Given the description of an element on the screen output the (x, y) to click on. 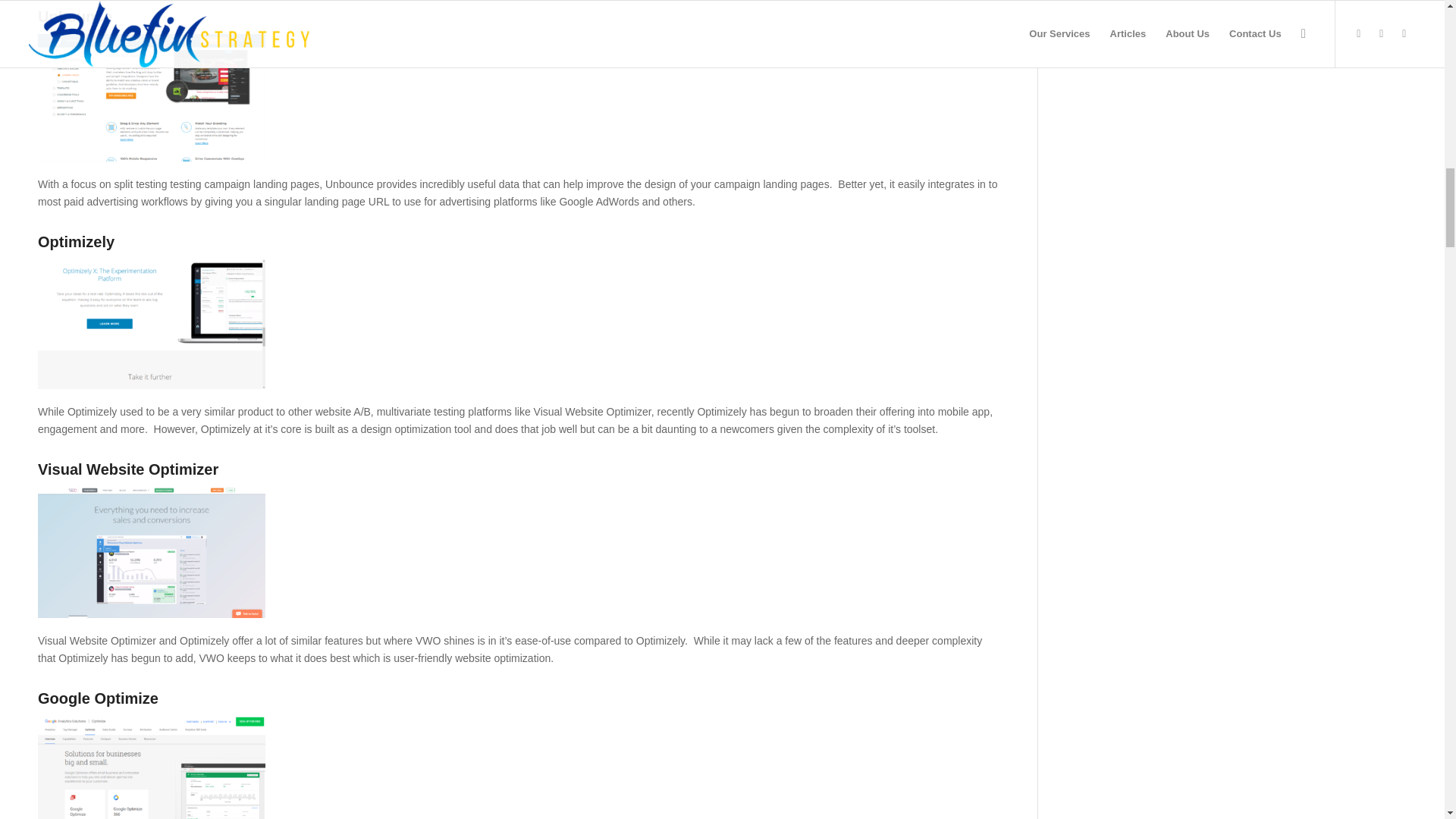
Visual Website Optimizer (127, 469)
Google Optimize (97, 698)
Unbounce (74, 16)
Optimizely (76, 241)
